Given the description of an element on the screen output the (x, y) to click on. 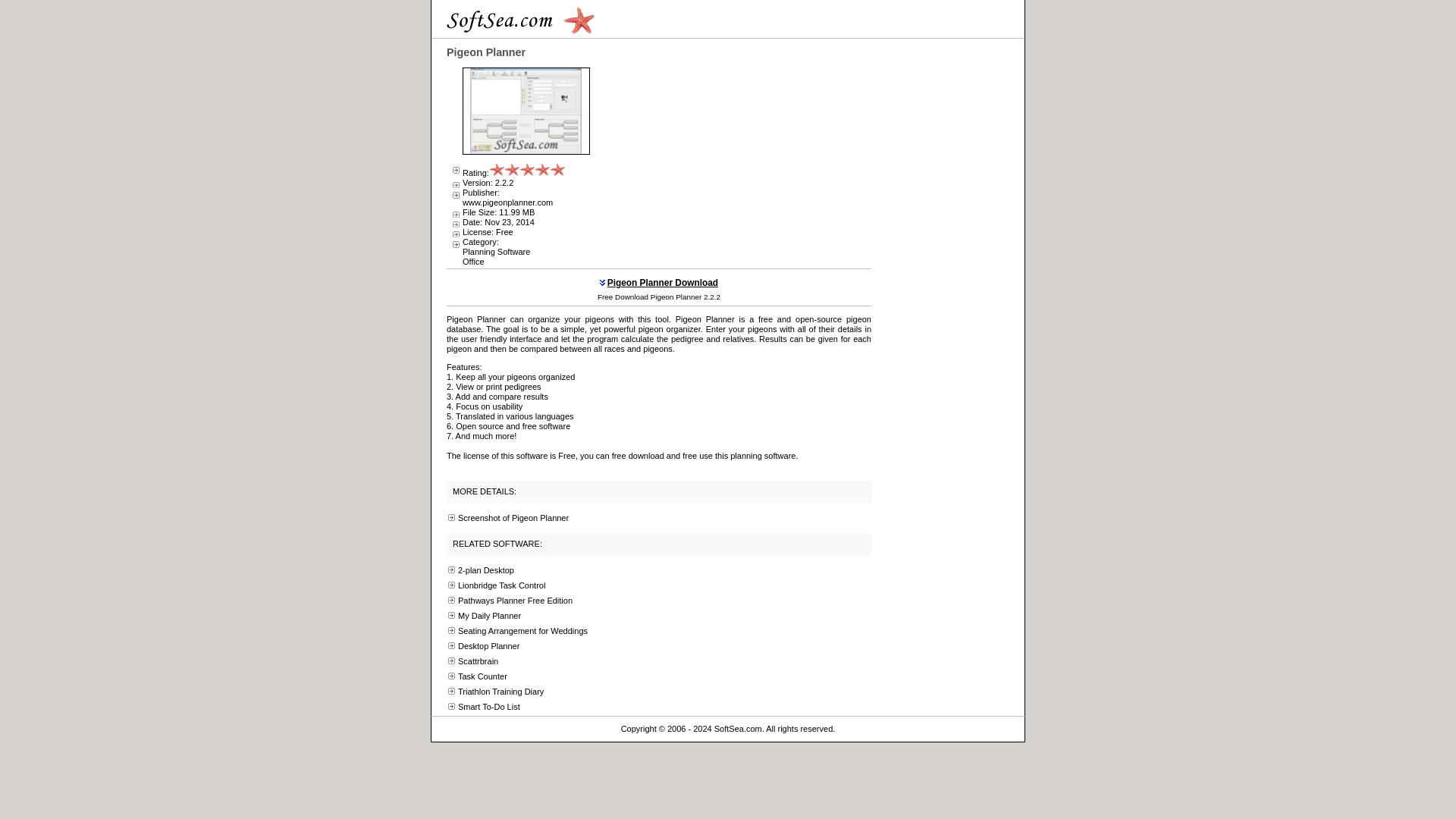
Task Counter (482, 675)
Screenshot of Pigeon Planner (513, 517)
Pathways Planner Free Edition (515, 600)
My Daily Planner (489, 614)
Desktop Planner (488, 645)
Scattrbrain (477, 660)
Pigeon Planner Download (662, 282)
2-plan Desktop (485, 569)
Advertisement (948, 265)
Seating Arrangement for Weddings (523, 630)
Smart To-Do List (488, 706)
Triathlon Training Diary (500, 691)
Advertisement (732, 152)
Lionbridge Task Control (501, 584)
